Given the description of an element on the screen output the (x, y) to click on. 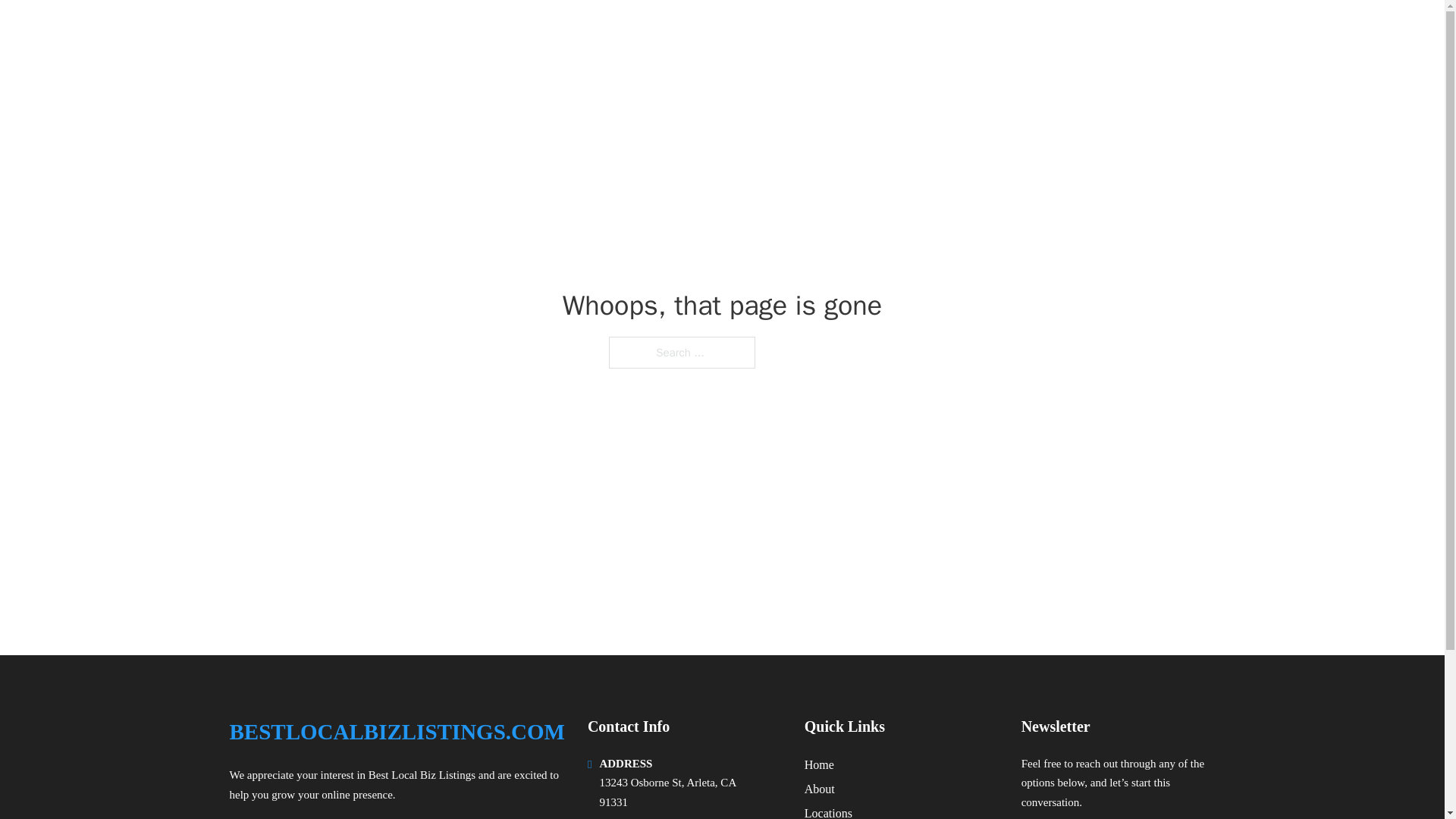
LOCATIONS (1098, 31)
BESTLOCALBIZLISTINGS.COM (396, 732)
Locations (828, 811)
HOME (1025, 31)
About (819, 788)
BESTLOCALBIZLISTINGS.COM (413, 31)
Home (819, 764)
